Given the description of an element on the screen output the (x, y) to click on. 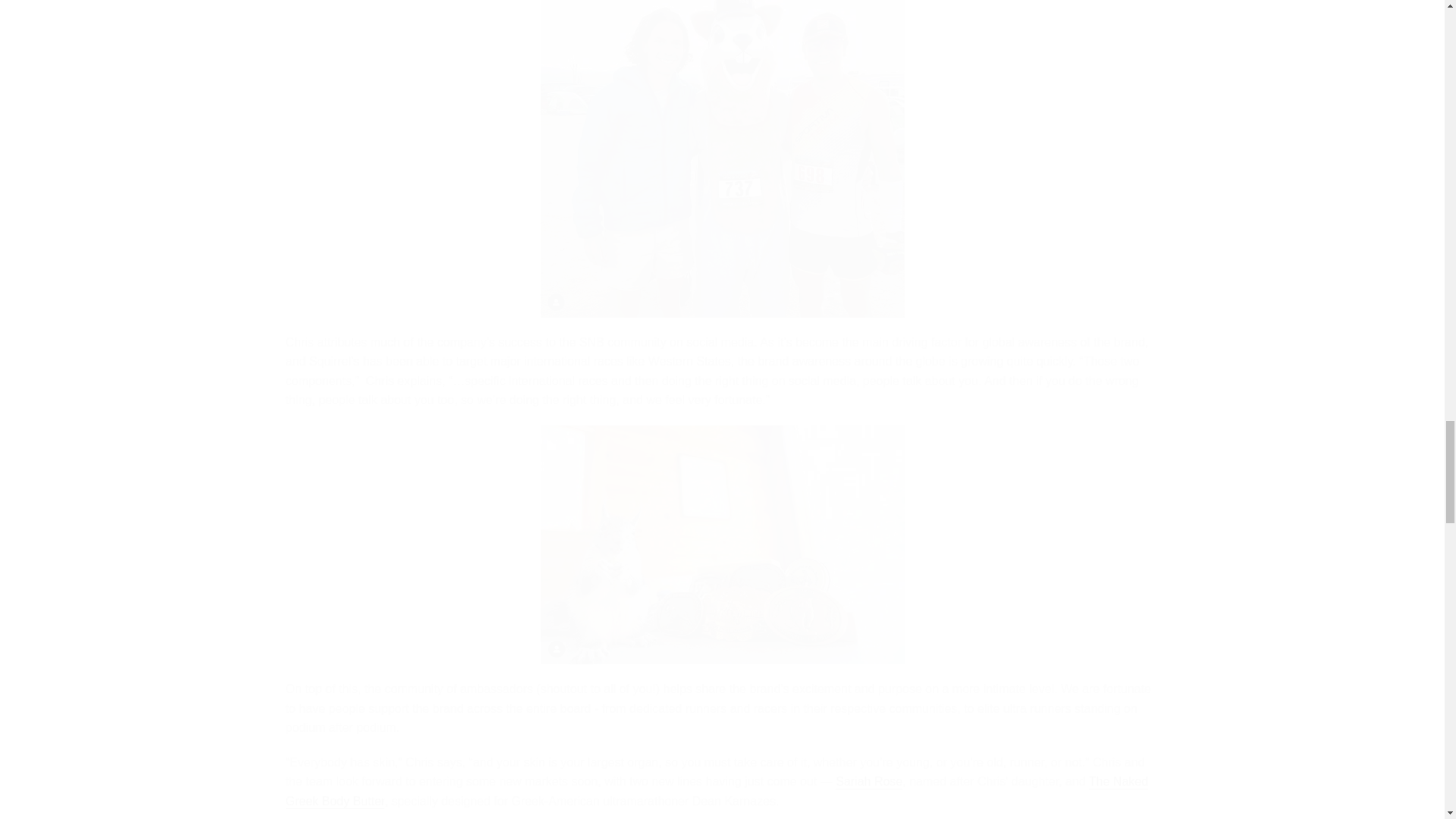
The Naked Greek Body Butter (716, 791)
Sariah Rose (868, 781)
